Given the description of an element on the screen output the (x, y) to click on. 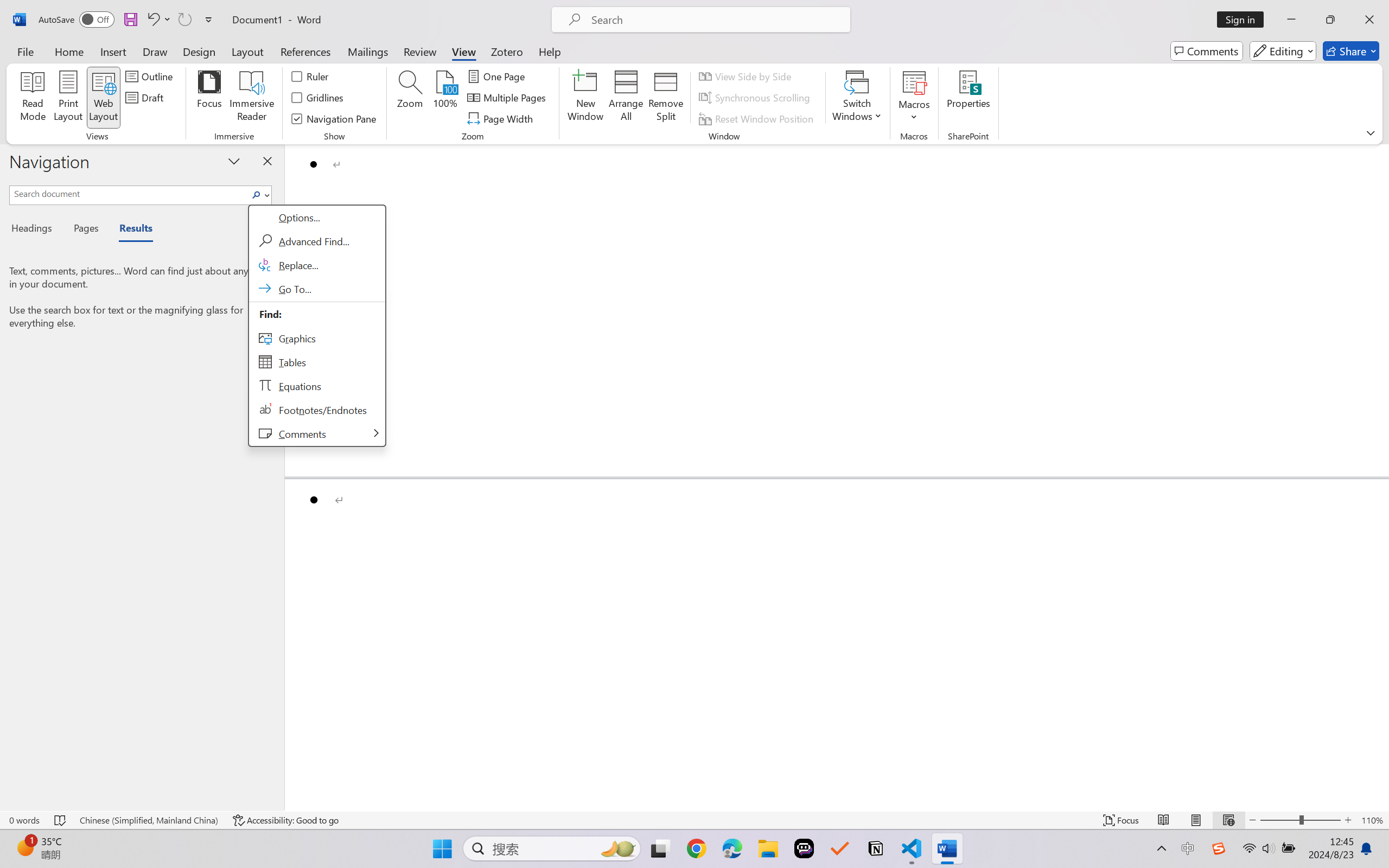
View Side by Side (746, 75)
New Window (585, 97)
Properties (967, 97)
